Given the description of an element on the screen output the (x, y) to click on. 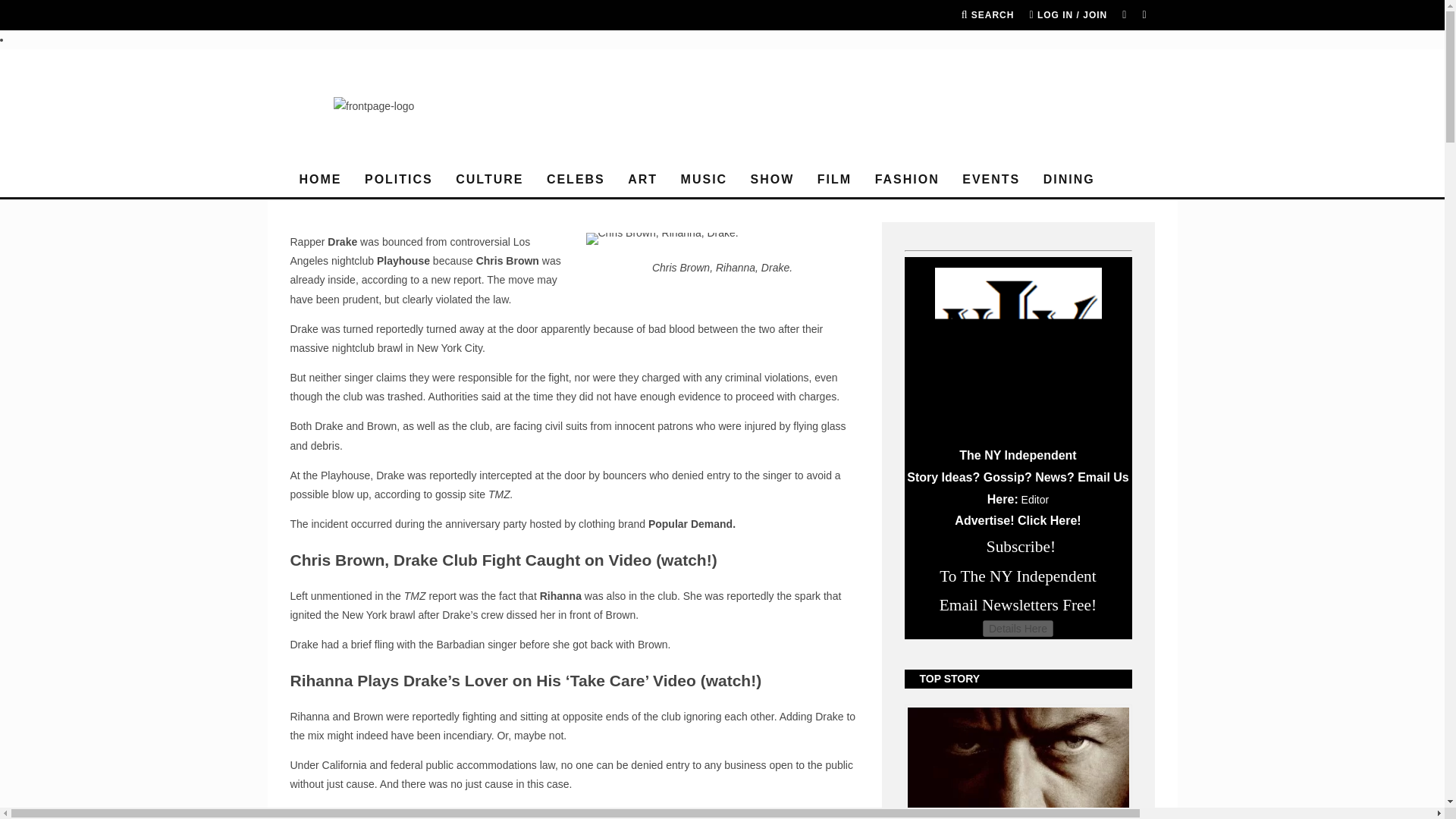
SEARCH (987, 15)
Search (987, 15)
Details Here (1017, 628)
